Given the description of an element on the screen output the (x, y) to click on. 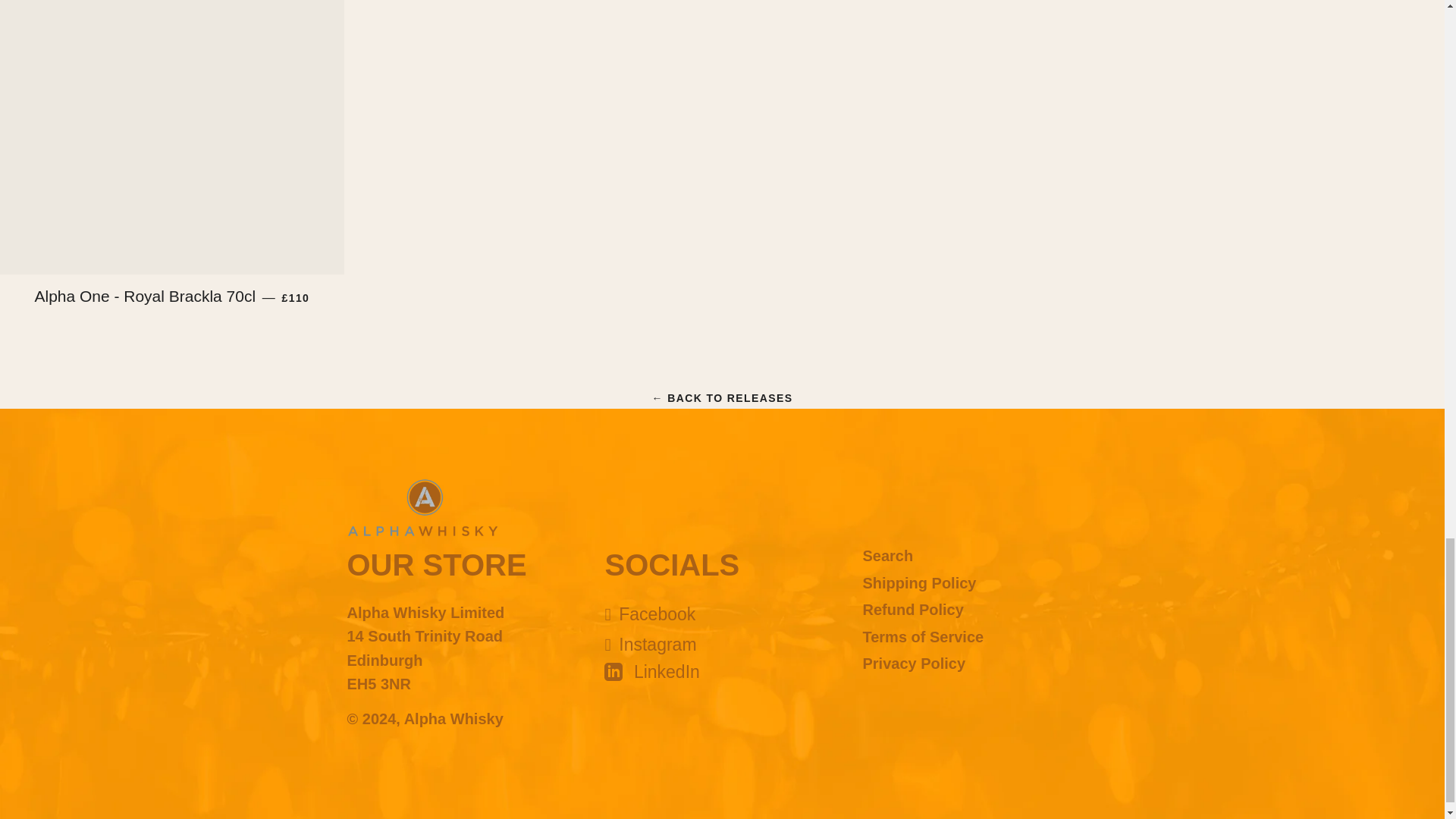
Alpha Whisky on Instagram (649, 644)
Alpha Whisky on Facebook (649, 614)
